Given the description of an element on the screen output the (x, y) to click on. 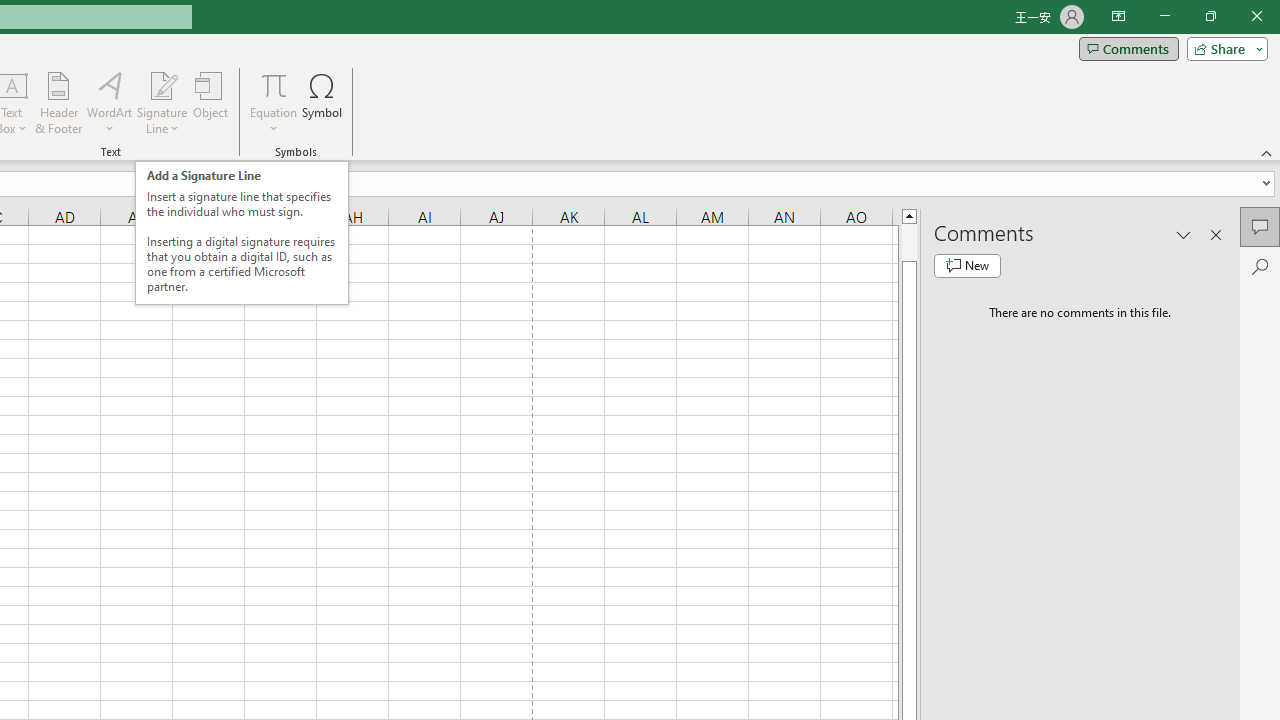
Equation (273, 84)
Signature Line (161, 102)
Signature Line (161, 84)
WordArt (109, 102)
